Given the description of an element on the screen output the (x, y) to click on. 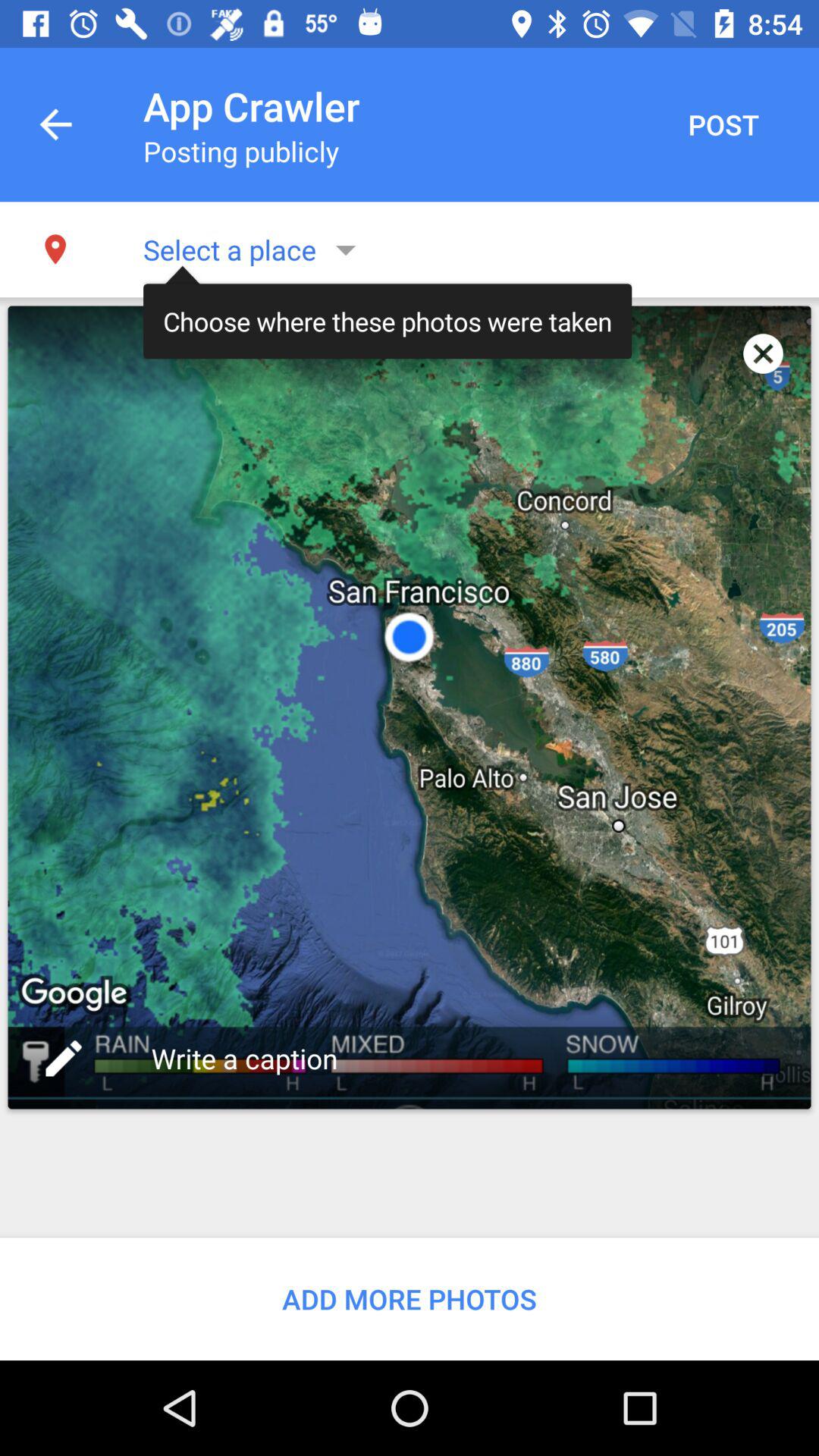
select the text right to google and pencil icon (248, 1058)
